Given the description of an element on the screen output the (x, y) to click on. 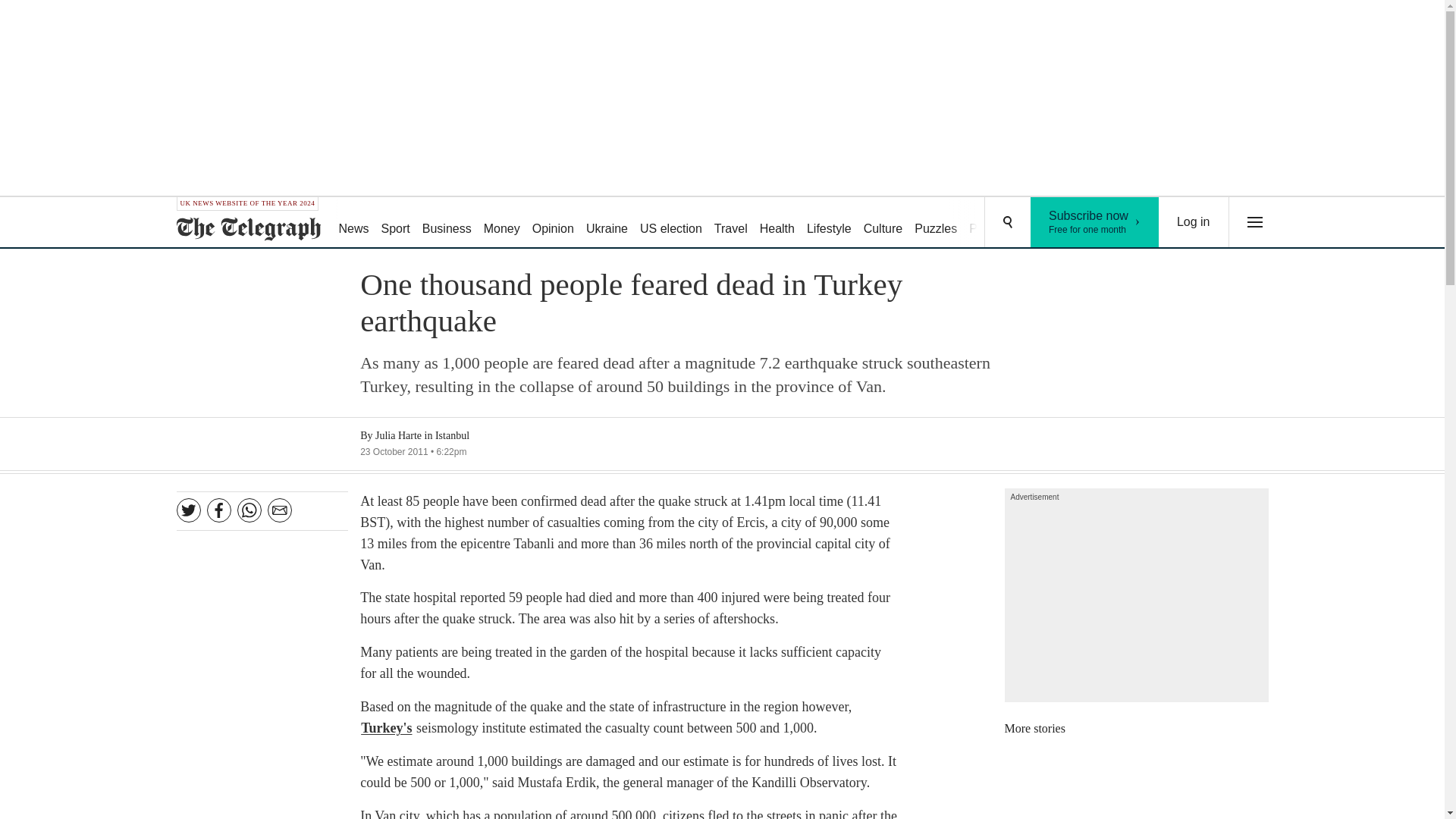
Business (446, 223)
US election (670, 223)
Puzzles (935, 223)
Travel (1094, 222)
Lifestyle (730, 223)
Money (828, 223)
Culture (501, 223)
Health (882, 223)
Ukraine (777, 223)
